Given the description of an element on the screen output the (x, y) to click on. 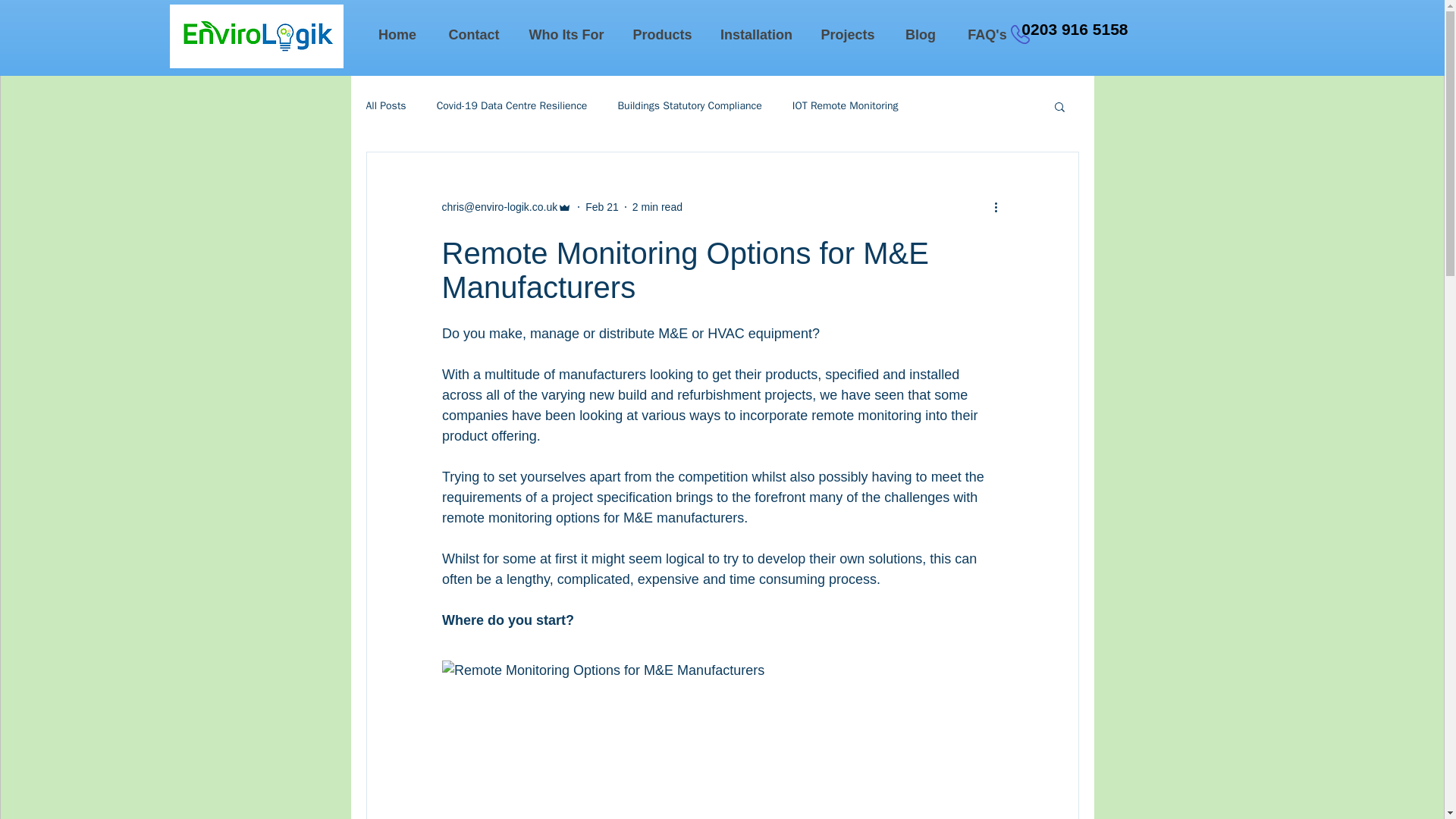
IOT Remote Monitoring (845, 106)
Installation (756, 34)
Projects (846, 34)
Blog (919, 34)
Buildings Statutory Compliance (689, 106)
Feb 21 (601, 205)
2 min read (656, 205)
All Posts (385, 106)
Contact (472, 34)
Products (661, 34)
